Given the description of an element on the screen output the (x, y) to click on. 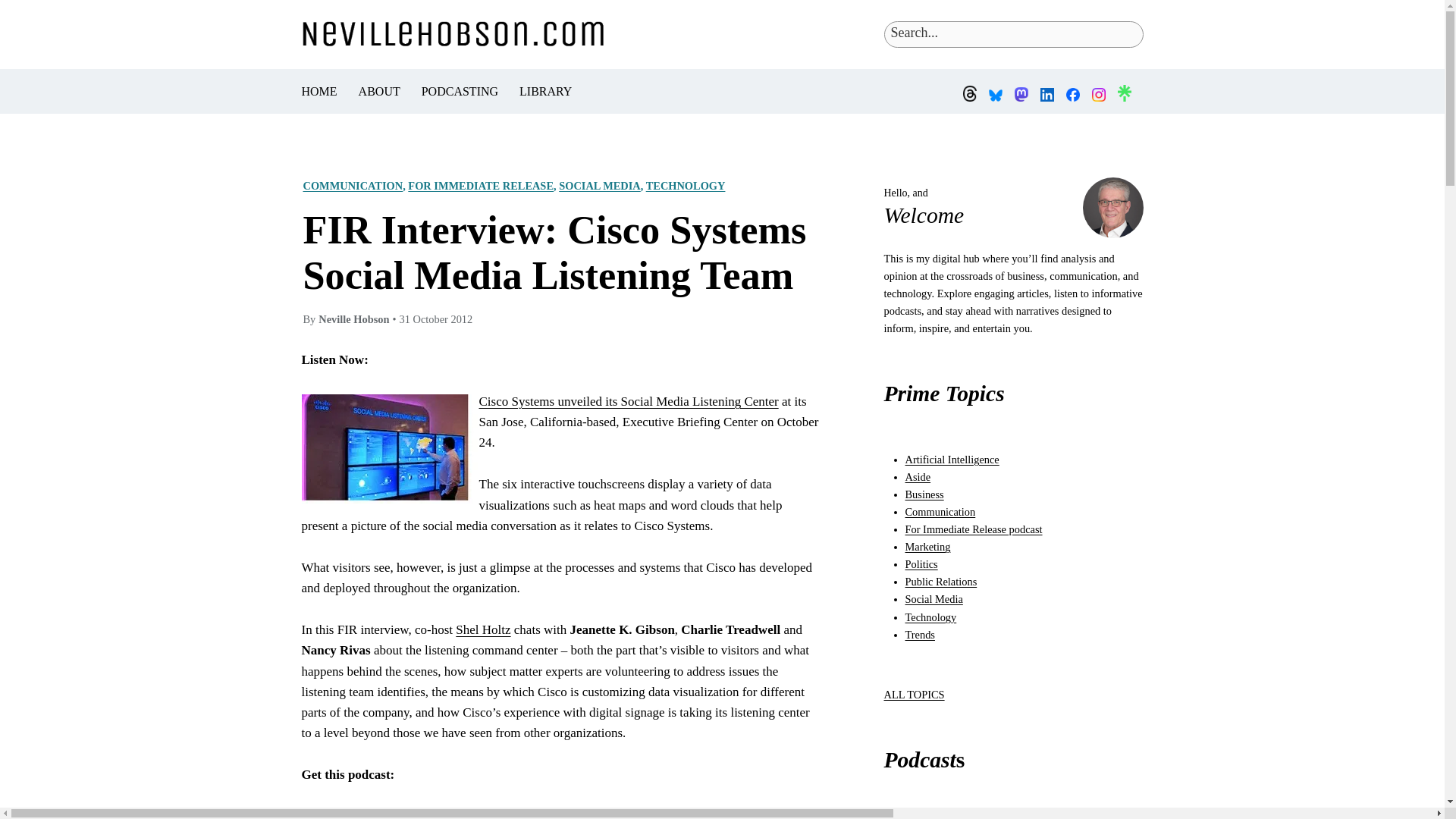
FIR Interview: Cisco Systems Social Media Listening Team (560, 252)
Download the MP3 file (391, 814)
COMMUNICATION (352, 185)
HOME (319, 91)
FOR IMMEDIATE RELEASE (480, 185)
TECHNOLOGY (685, 185)
31 October 2012 (434, 318)
Shel Holtz (483, 629)
LIBRARY (545, 91)
ABOUT (379, 91)
